Given the description of an element on the screen output the (x, y) to click on. 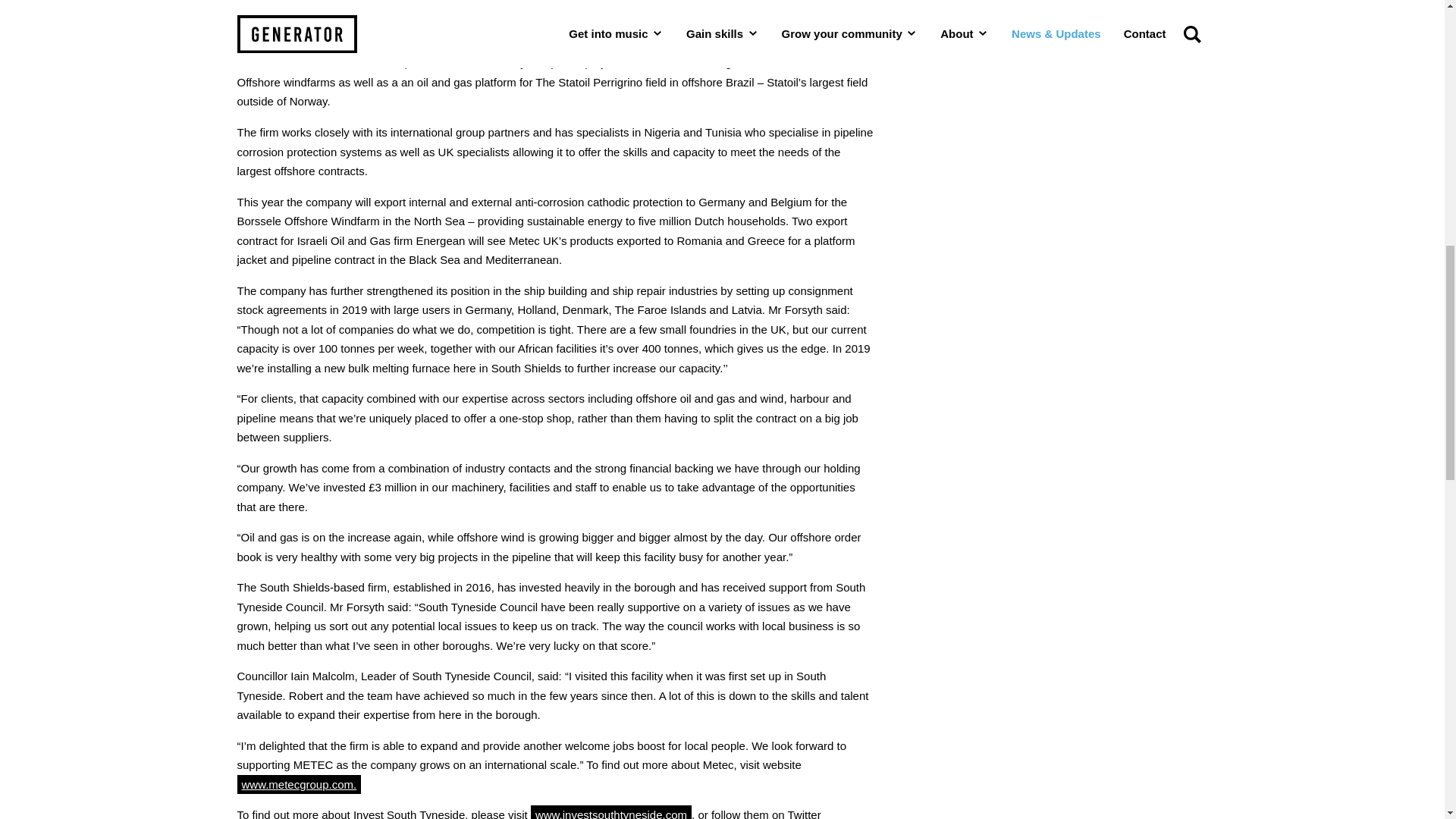
www.investsouthtyneside.com (611, 812)
www.metecgroup.com. (298, 784)
